Given the description of an element on the screen output the (x, y) to click on. 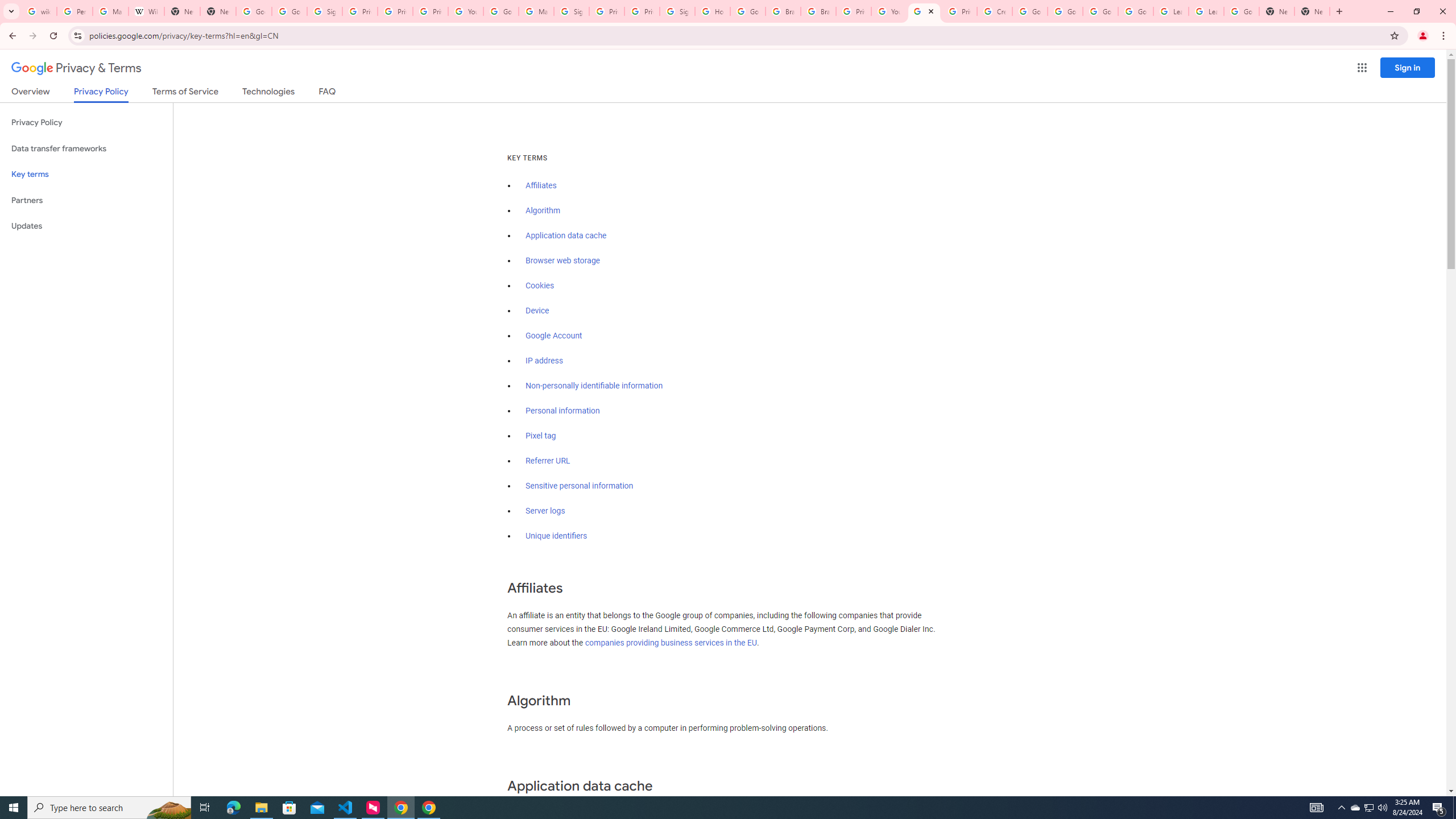
New Tab (218, 11)
Google Account Help (501, 11)
Algorithm (542, 210)
Browser web storage (562, 260)
Sign in - Google Accounts (324, 11)
Google Account (1240, 11)
companies providing business services in the EU (671, 642)
